Given the description of an element on the screen output the (x, y) to click on. 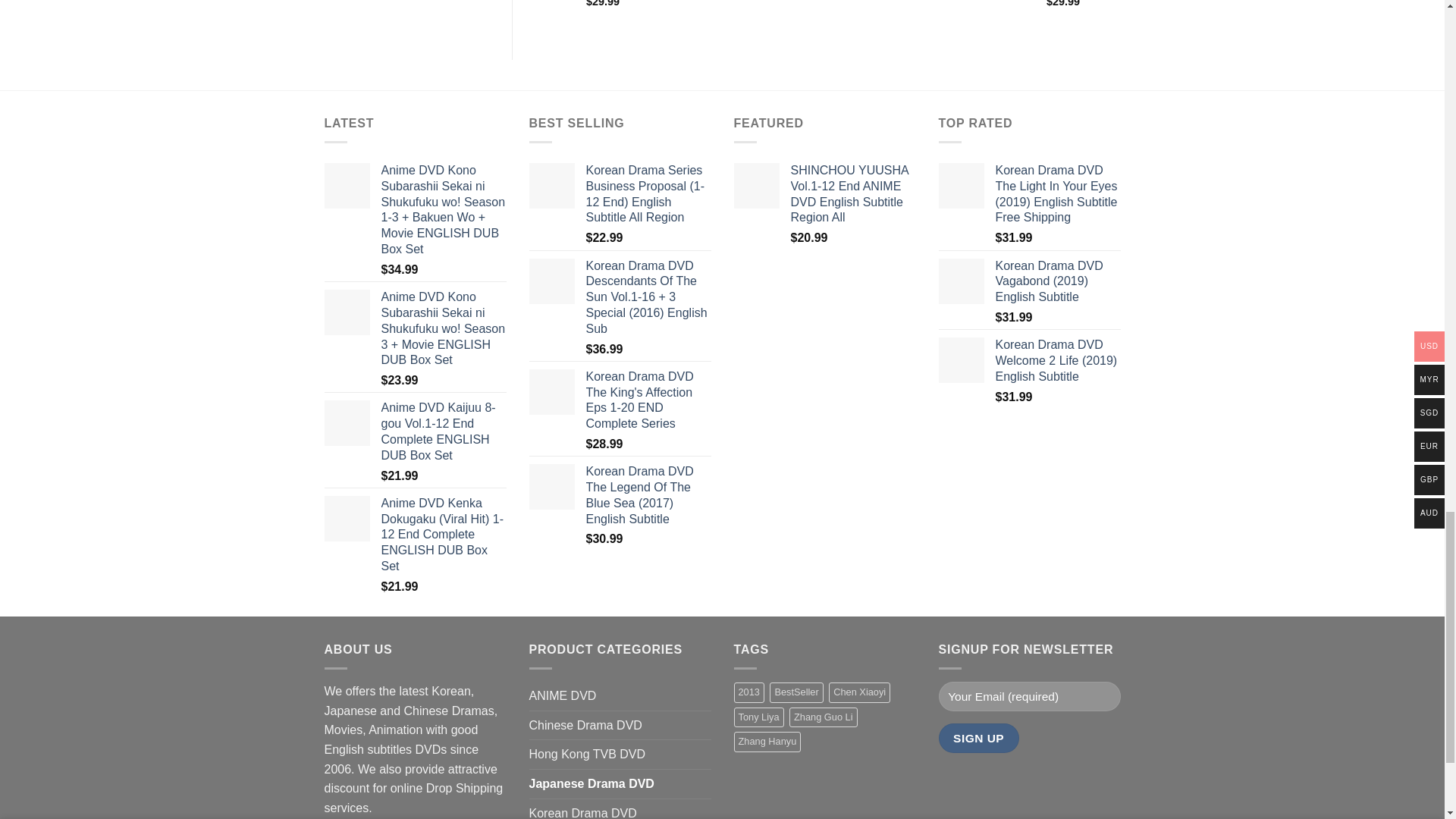
Sign Up (979, 737)
